Given the description of an element on the screen output the (x, y) to click on. 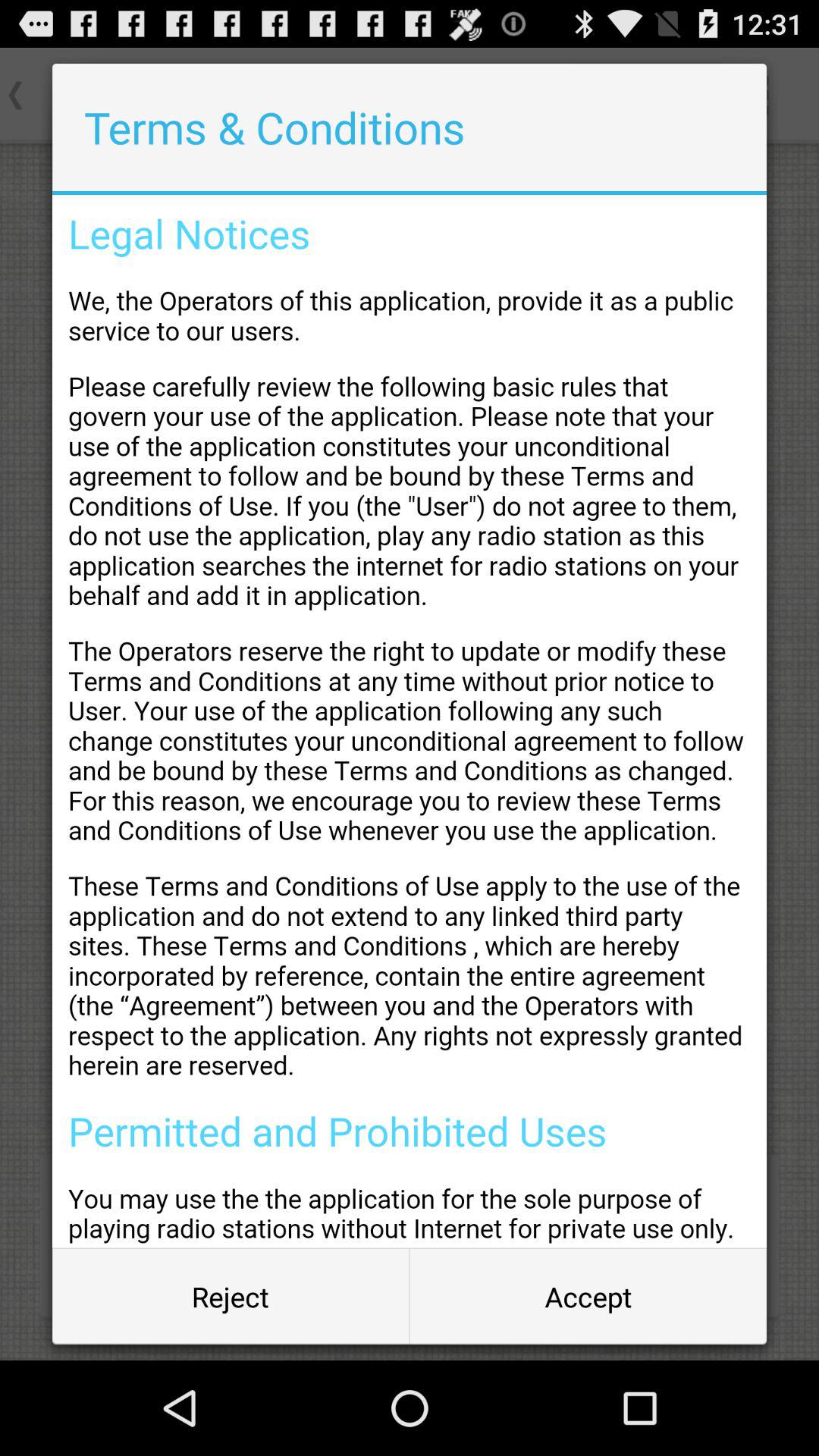
read document (409, 721)
